Given the description of an element on the screen output the (x, y) to click on. 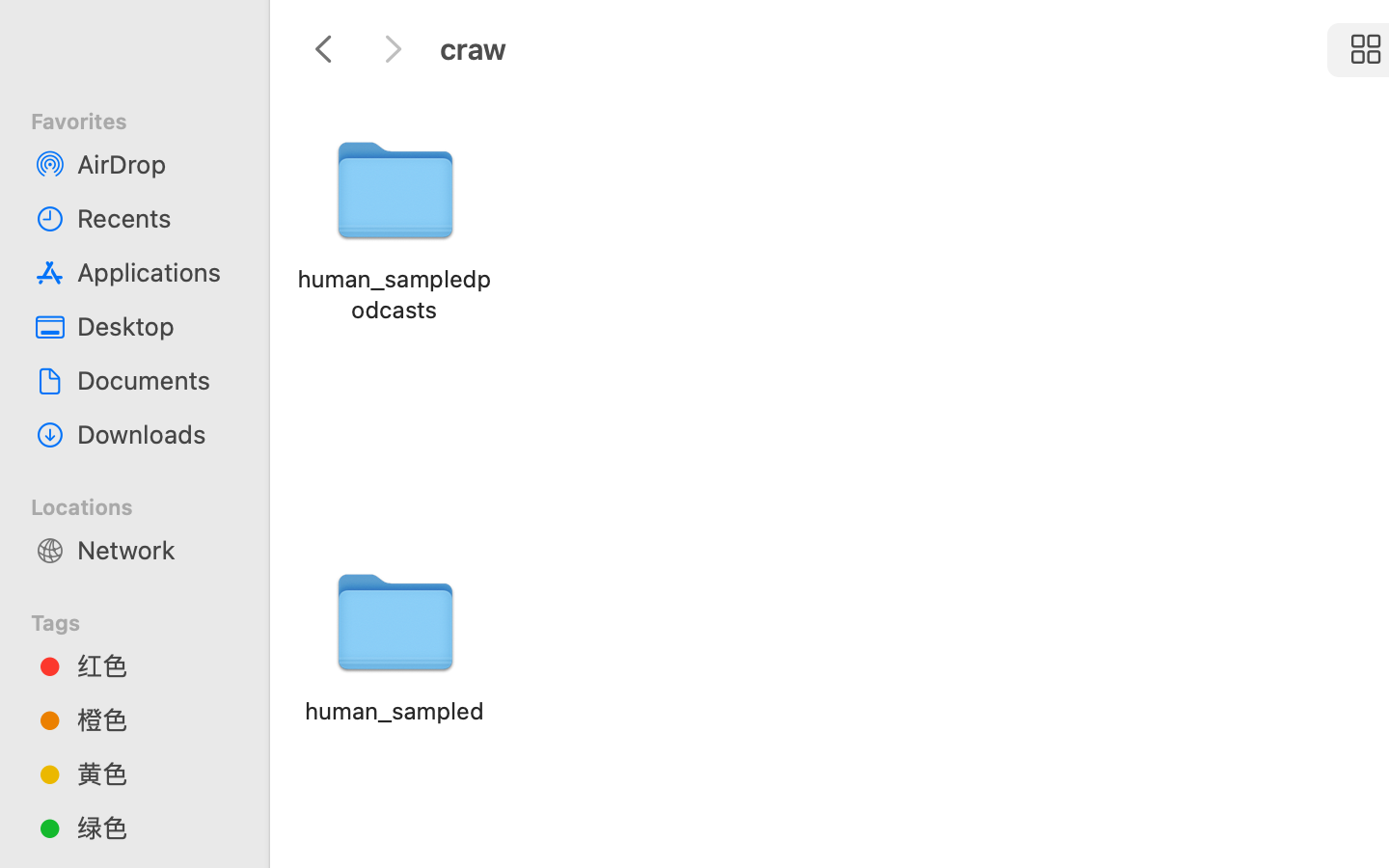
绿色 Element type: AXStaticText (155, 827)
Tags Element type: AXStaticText (145, 619)
Recents Element type: AXStaticText (155, 217)
Locations Element type: AXStaticText (145, 504)
